Given the description of an element on the screen output the (x, y) to click on. 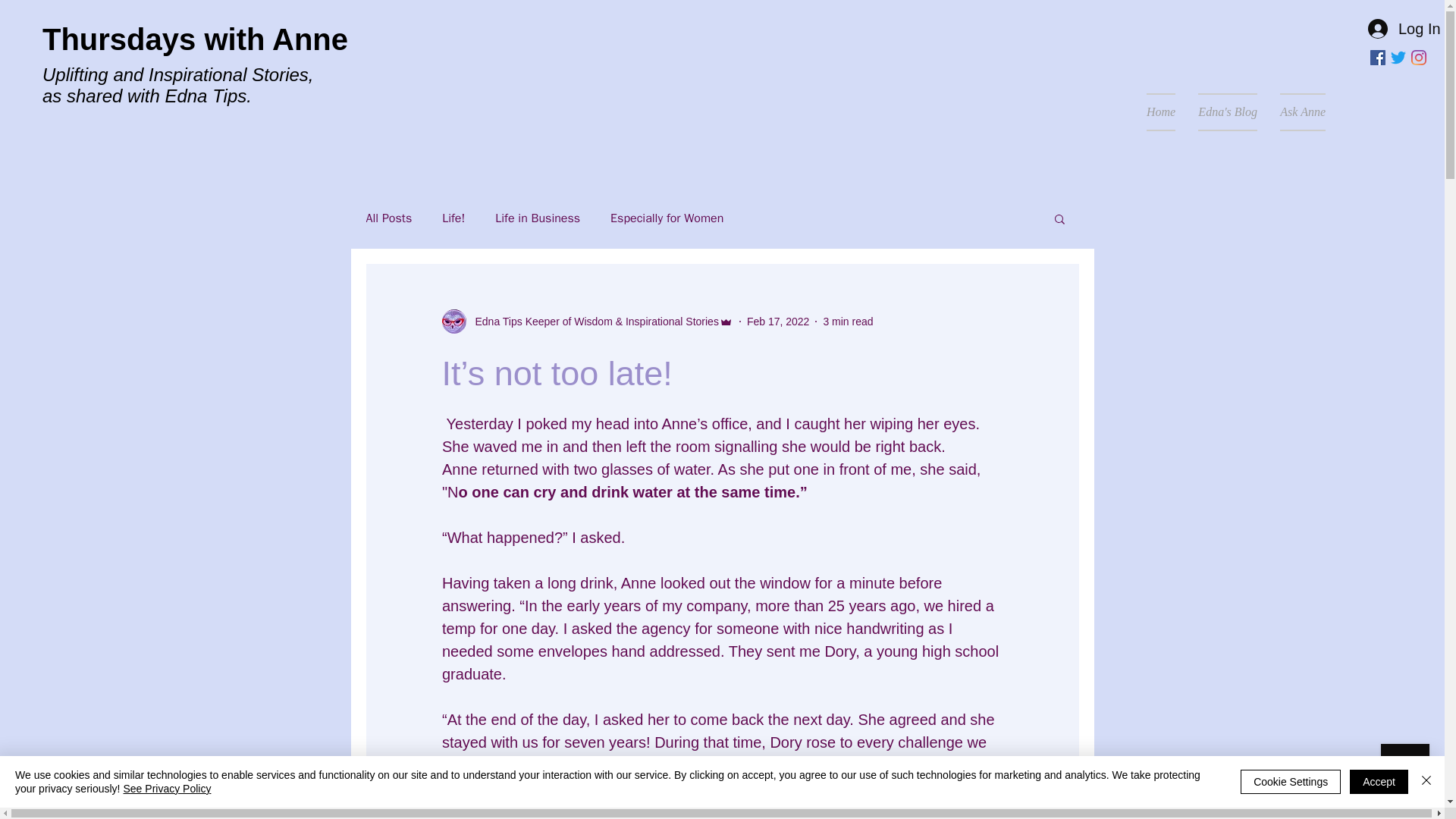
Wix Chat (1408, 771)
Ask Anne (1296, 112)
Cookie Settings (1290, 781)
Log In (1394, 28)
Feb 17, 2022 (777, 321)
See Privacy Policy (166, 788)
Home (1160, 112)
Accept (1378, 781)
Edna's Blog (1227, 112)
Life! (453, 218)
